Given the description of an element on the screen output the (x, y) to click on. 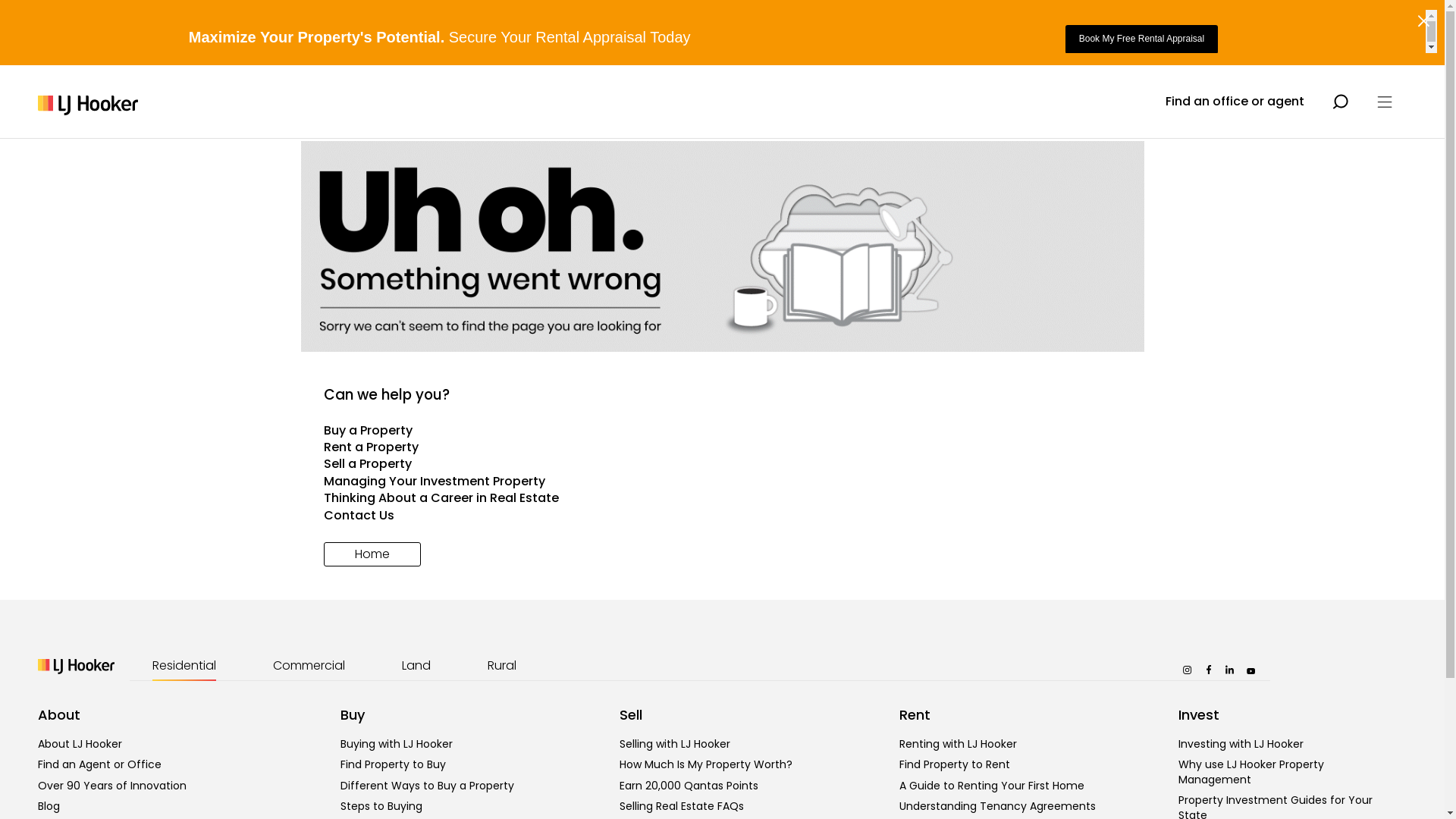
Different Ways to Buy a Property Element type: text (427, 785)
Sell a Property Element type: text (721, 463)
Why use LJ Hooker Property Management Element type: text (1251, 771)
Investing with LJ Hooker Element type: text (1240, 743)
Buy a Property Element type: text (721, 430)
Contact Us Element type: text (721, 515)
Rent Element type: text (914, 714)
Find an office or agent Element type: text (1234, 101)
About LJ Hooker Element type: text (79, 743)
Managing Your Investment Property Element type: text (721, 481)
Find Property to Rent Element type: text (954, 763)
A Guide to Renting Your First Home Element type: text (991, 785)
Land Element type: text (415, 665)
Blog Element type: text (48, 805)
Find Property to Buy Element type: text (392, 763)
Home Element type: text (371, 554)
Commercial Element type: text (309, 665)
Invest Element type: text (1198, 714)
Steps to Buying Element type: text (381, 805)
Find an Agent or Office Element type: text (99, 763)
Thinking About a Career in Real Estate Element type: text (721, 497)
Residential Element type: text (184, 665)
About Element type: text (58, 714)
Buying with LJ Hooker Element type: text (396, 743)
Sell Element type: text (630, 714)
Earn 20,000 Qantas Points Element type: text (688, 785)
Selling Real Estate FAQs Element type: text (681, 805)
Rural Element type: text (501, 665)
Over 90 Years of Innovation Element type: text (111, 785)
Renting with LJ Hooker Element type: text (957, 743)
Selling with LJ Hooker Element type: text (674, 743)
Buy Element type: text (352, 714)
Understanding Tenancy Agreements Element type: text (997, 805)
How Much Is My Property Worth? Element type: text (705, 763)
Rent a Property Element type: text (721, 447)
